Given the description of an element on the screen output the (x, y) to click on. 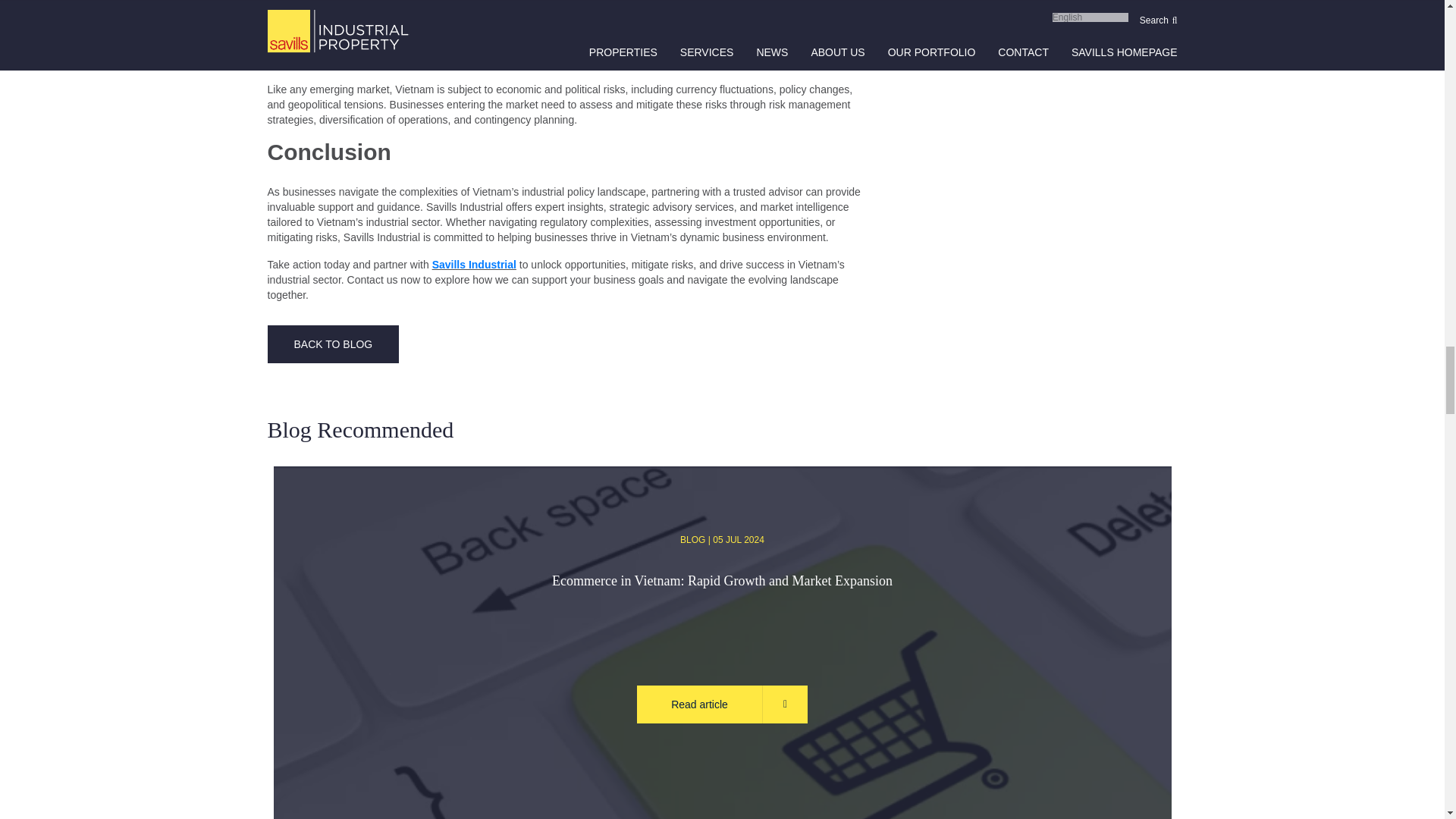
BLOG (691, 539)
Ecommerce in Vietnam: Rapid Growth and Market Expansion (721, 609)
BACK TO BLOG (332, 344)
Ecommerce in Vietnam: Rapid Growth and Market Expansion (721, 609)
Ecommerce in Vietnam: Rapid Growth and Market Expansion (722, 704)
Savills Industrial (474, 264)
Savills Industrial (474, 264)
Read article (722, 704)
